Given the description of an element on the screen output the (x, y) to click on. 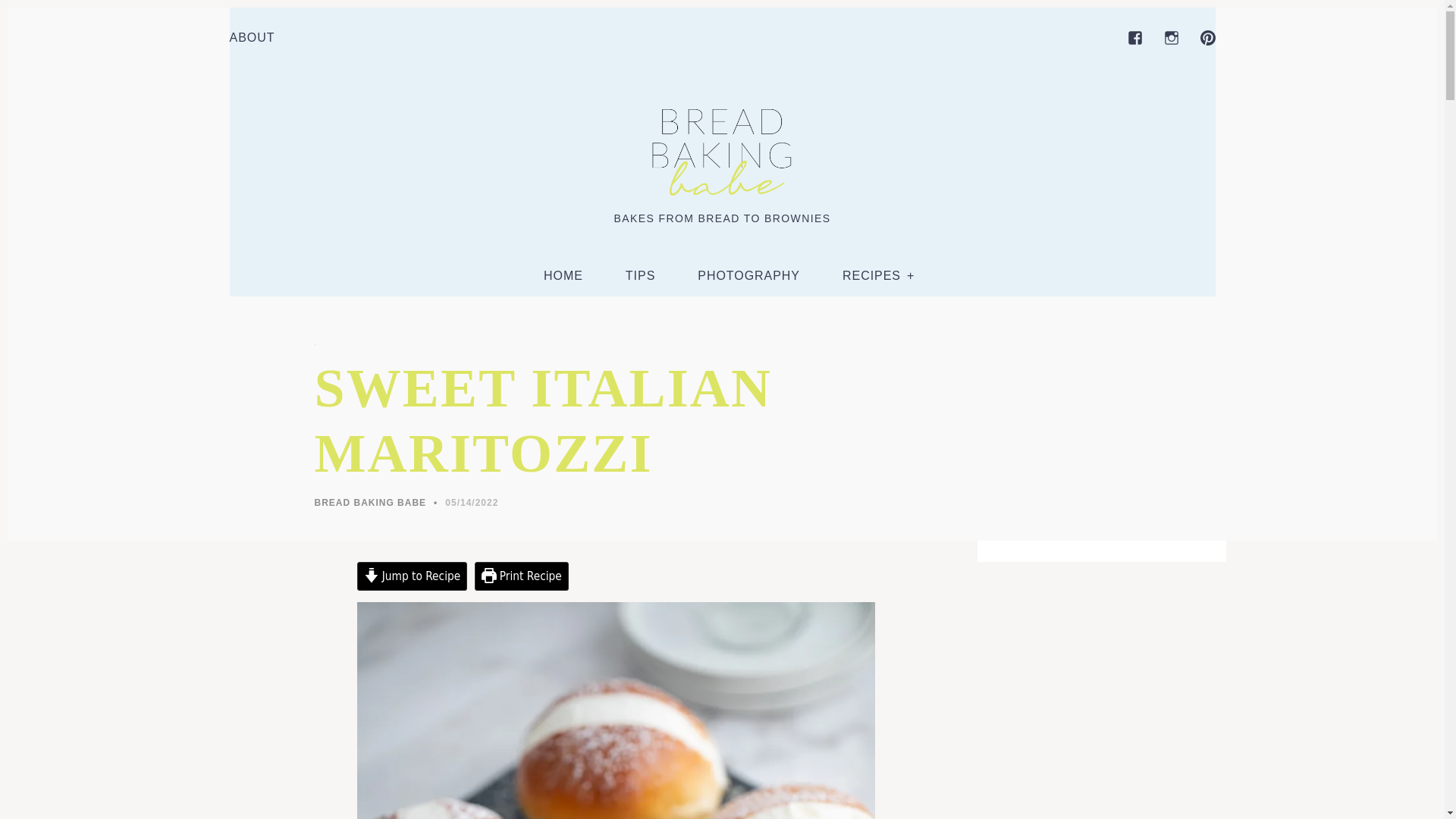
Print Recipe (521, 575)
INSTAGRAM (1170, 37)
PINTEREST (1206, 37)
ABOUT (251, 37)
Jump to Recipe (411, 575)
HOME (563, 276)
FACEBOOK (1133, 37)
BREAD BAKING BABE (370, 502)
PHOTOGRAPHY (748, 276)
